Given the description of an element on the screen output the (x, y) to click on. 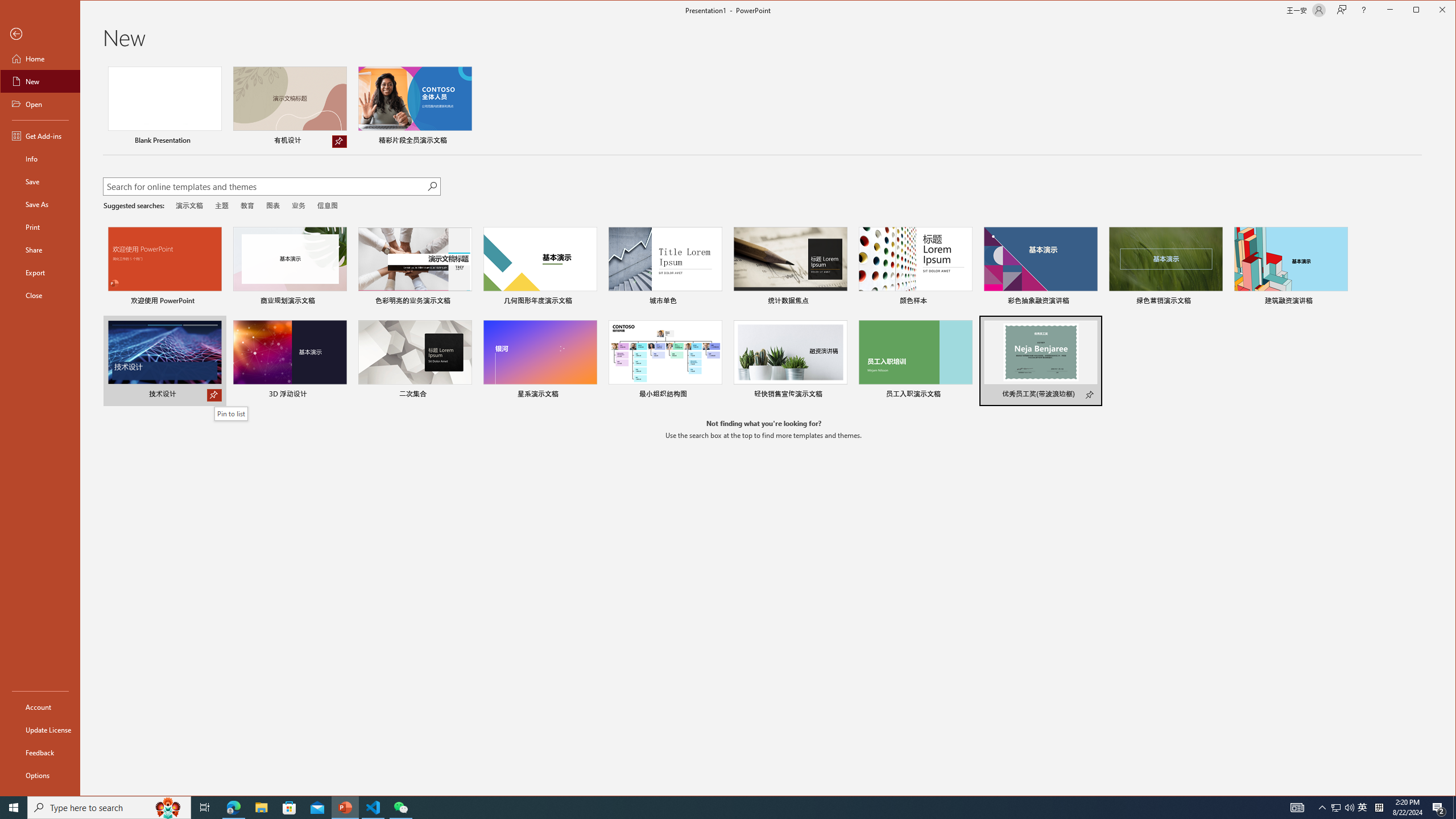
Microsoft Edge - 1 running window (233, 807)
Feedback (40, 752)
Pin to list (230, 413)
Running applications (707, 807)
Unpin from list (338, 141)
